Given the description of an element on the screen output the (x, y) to click on. 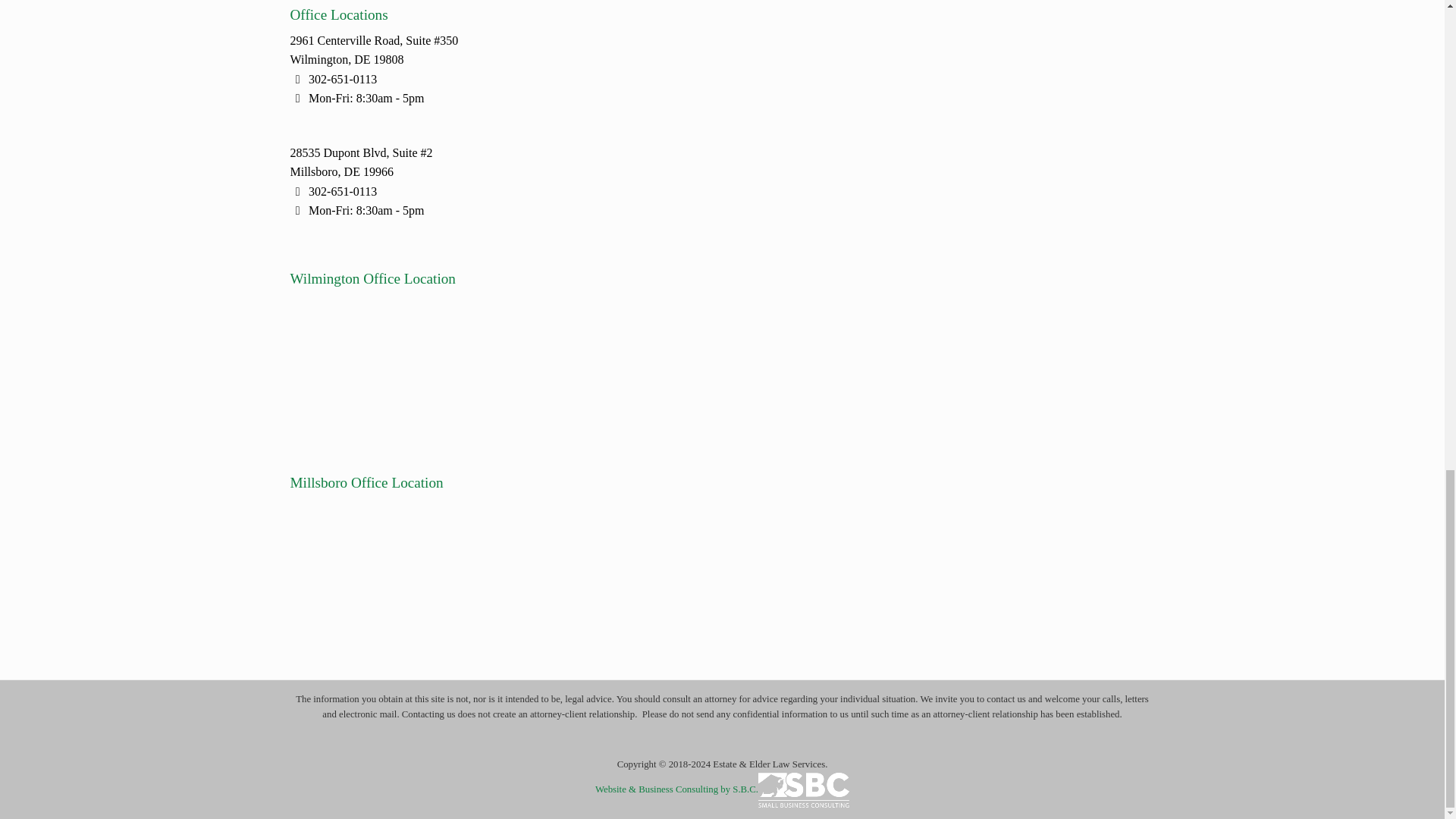
302-651-0113 (342, 78)
302-651-0113 (342, 191)
